Given the description of an element on the screen output the (x, y) to click on. 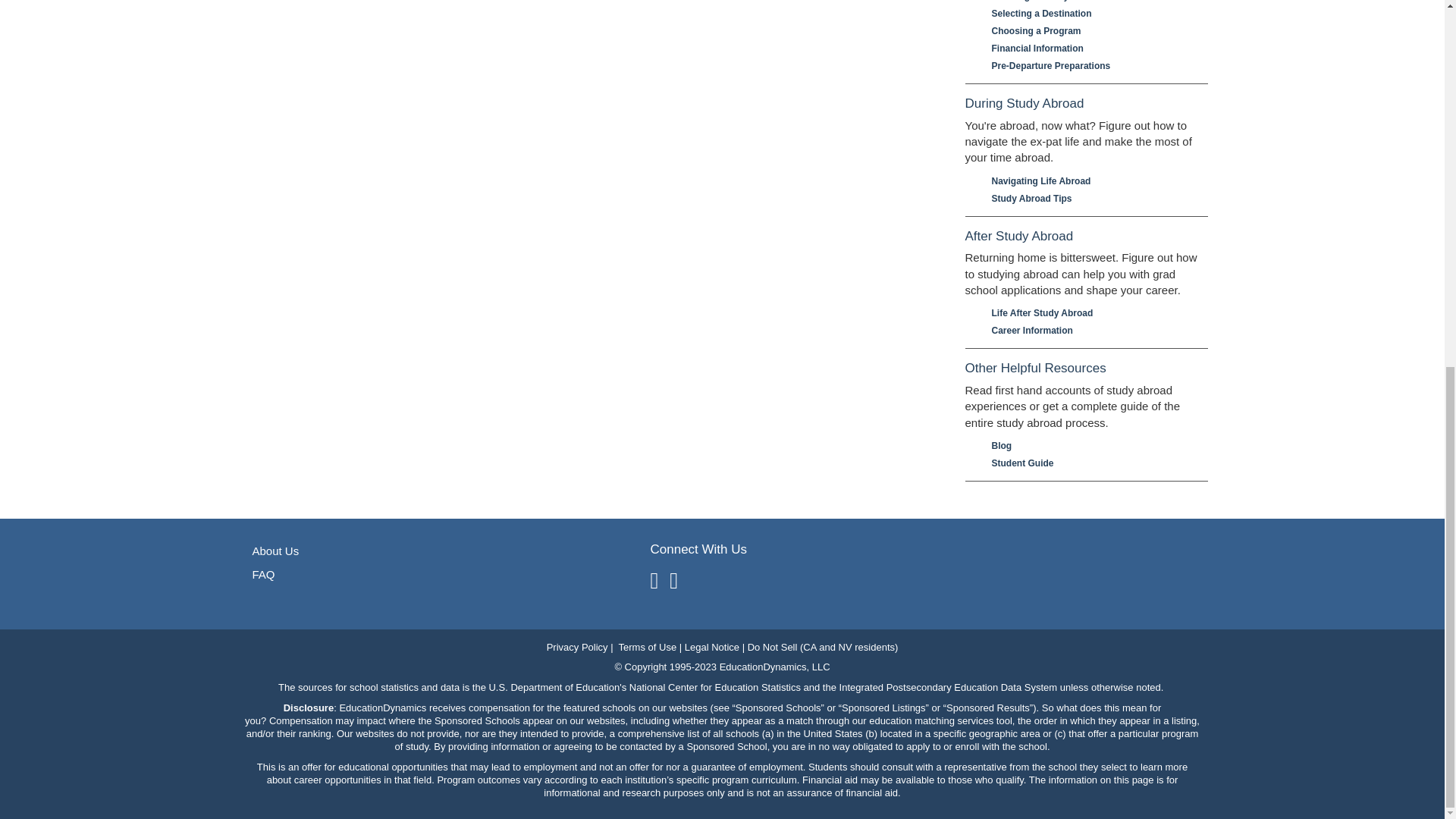
Financial Information (1092, 48)
Career Information (1092, 330)
Life After Study Abroad (1092, 313)
Study Abroad Tips (1092, 198)
During Study Abroad (1085, 104)
Choosing a Program (1092, 31)
Student Guide (1092, 463)
Deciding to Study Abroad (1092, 2)
After Study Abroad (1085, 236)
Blog (1092, 446)
